Given the description of an element on the screen output the (x, y) to click on. 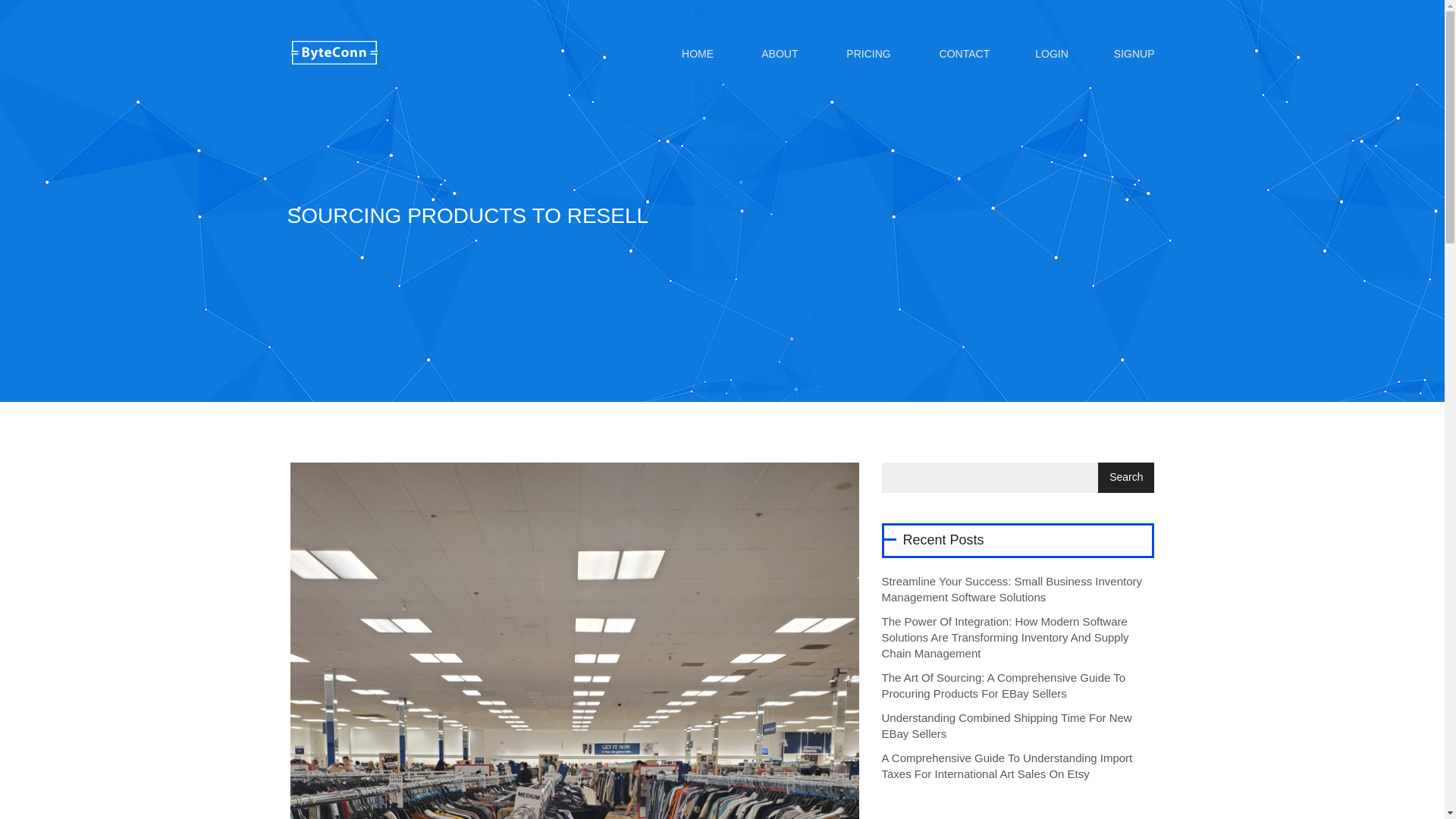
Home (696, 53)
Search (1125, 477)
About (778, 53)
 ABOUT (778, 53)
 CONTACT (963, 53)
LOGIN (1050, 53)
 HOME (696, 53)
Login (1050, 53)
Pricing (866, 53)
Understanding Combined Shipping Time For New EBay Sellers (1005, 725)
 PRICING (866, 53)
Signup (1128, 53)
